Given the description of an element on the screen output the (x, y) to click on. 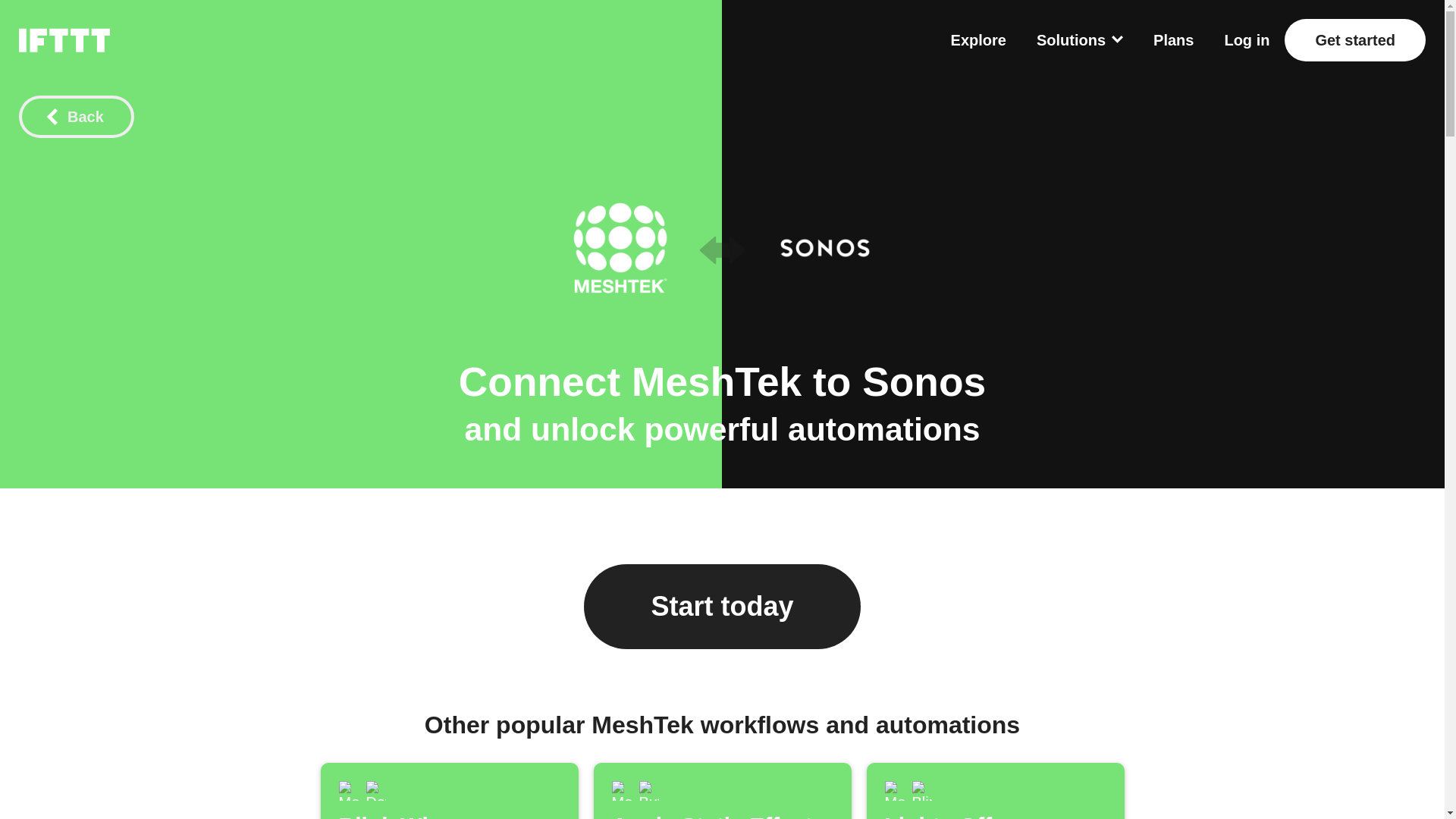
Get started (1354, 39)
Sonos (923, 381)
MeshTek (347, 790)
Sonos (721, 790)
Solutions (823, 248)
Home (1079, 39)
MeshTek (64, 40)
Plans (620, 790)
MeshTek (1173, 39)
